Given the description of an element on the screen output the (x, y) to click on. 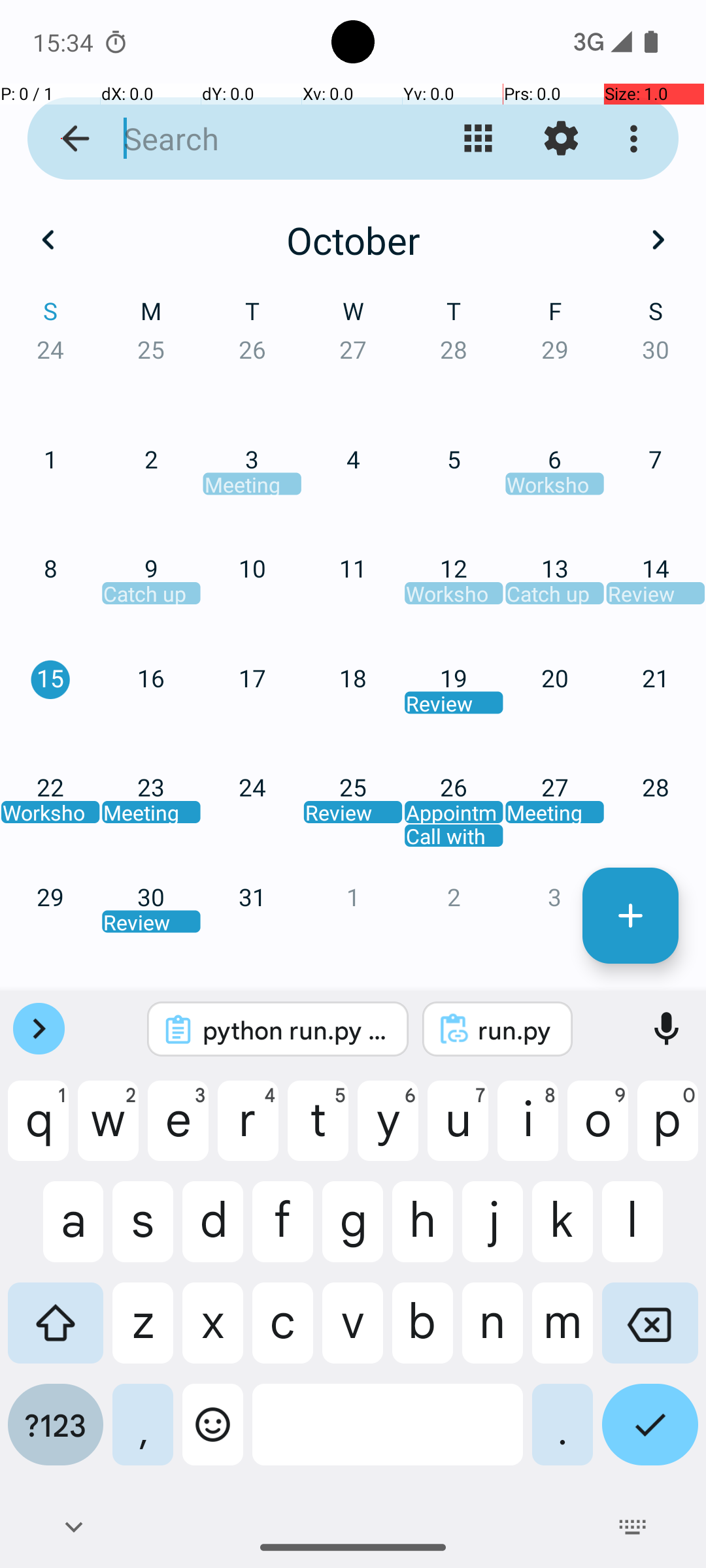
python run.py \   --suite_family=android_world \   --agent_name=t3a_gpt4 \   --perform_emulator_setup \   --tasks=ContactsAddContact,ClockStopWatchRunning \  # Optional: Just run on a subset. Element type: android.widget.TextView (294, 1029)
run.py Element type: android.widget.TextView (514, 1029)
